Given the description of an element on the screen output the (x, y) to click on. 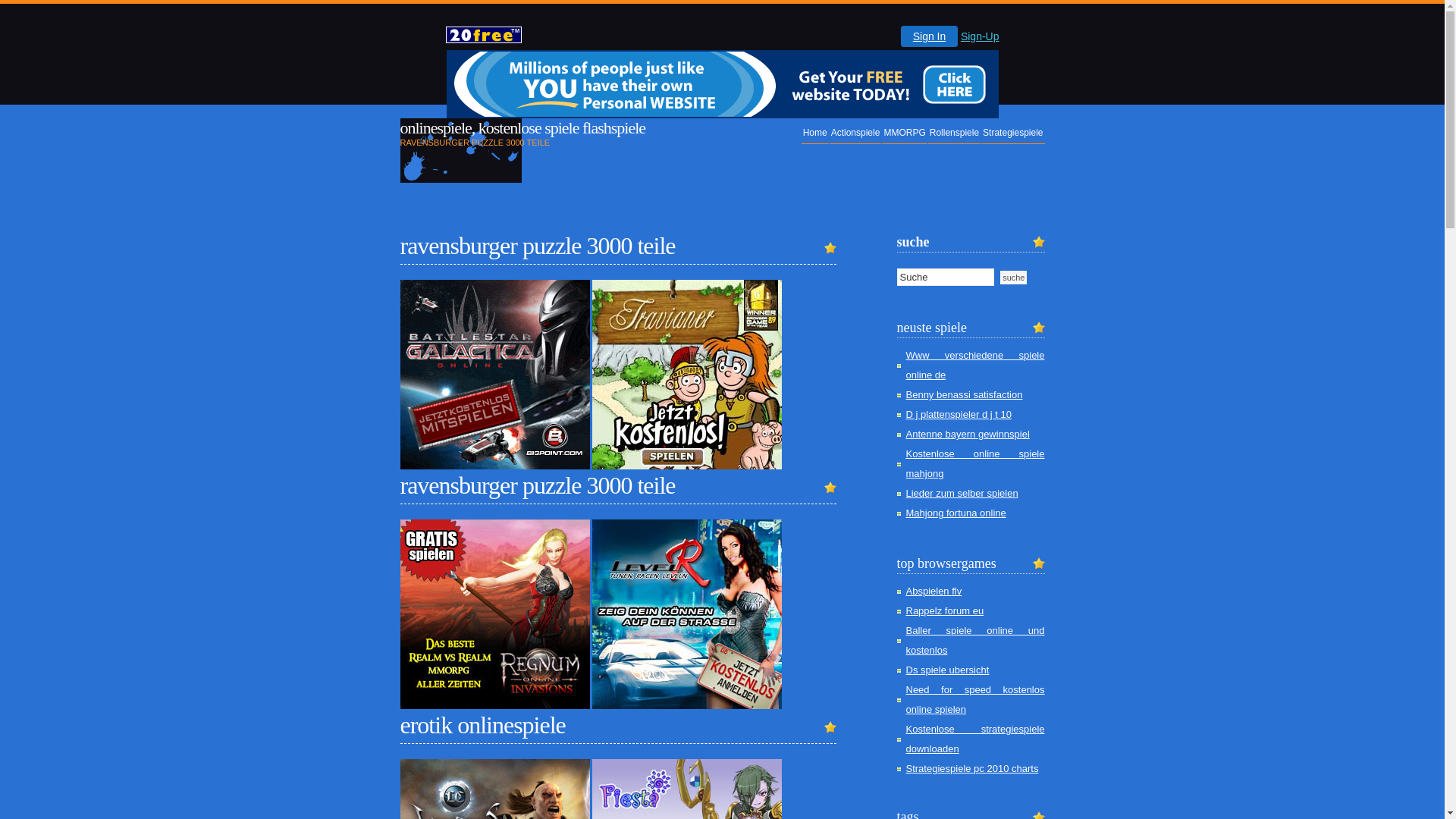
Strategiespiele Element type: text (1012, 133)
Www verschiedene spiele online de Element type: text (974, 364)
Ds spiele ubersicht Element type: text (946, 669)
Sign-Up Element type: text (979, 36)
Kostenlose strategiespiele downloaden Element type: text (974, 738)
Mahjong fortuna online Element type: text (955, 512)
Actionspiele Element type: text (855, 133)
D j plattenspieler d j t 10 Element type: text (957, 414)
Sign In Element type: text (929, 36)
Suche Element type: text (1013, 277)
Need for speed kostenlos online spielen Element type: text (974, 699)
Benny benassi satisfaction Element type: text (963, 394)
Strategiespiele pc 2010 charts Element type: text (971, 768)
Antenne bayern gewinnspiel Element type: text (967, 433)
MMORPG Element type: text (903, 133)
Baller spiele online und kostenlos Element type: text (974, 639)
Home Element type: text (814, 133)
Rappelz forum eu Element type: text (944, 610)
Lieder zum selber spielen Element type: text (961, 492)
Abspielen flv Element type: text (933, 590)
Rollenspiele Element type: text (954, 133)
Kostenlose online spiele mahjong Element type: text (974, 463)
